Given the description of an element on the screen output the (x, y) to click on. 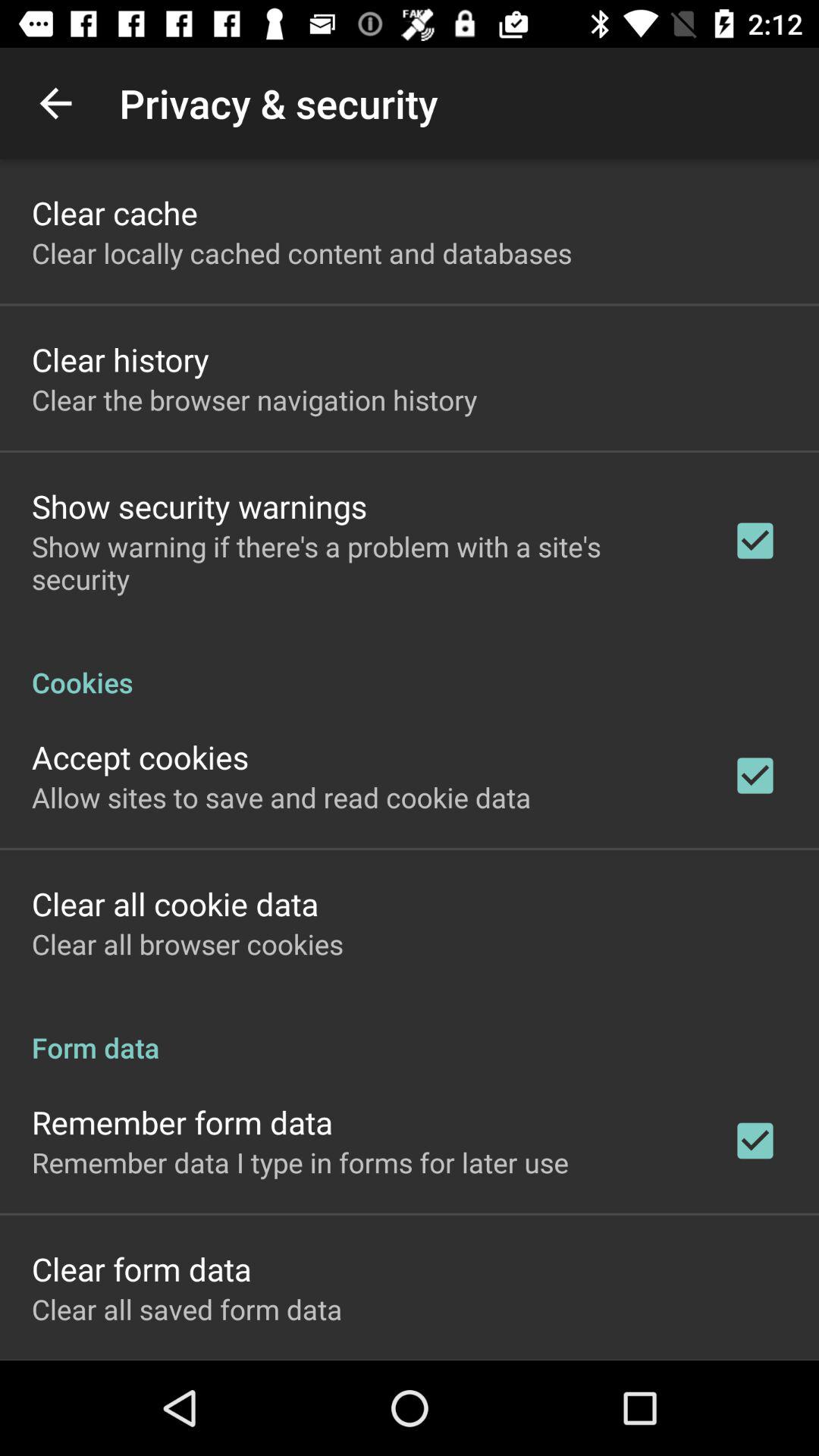
click app below accept cookies item (281, 797)
